Given the description of an element on the screen output the (x, y) to click on. 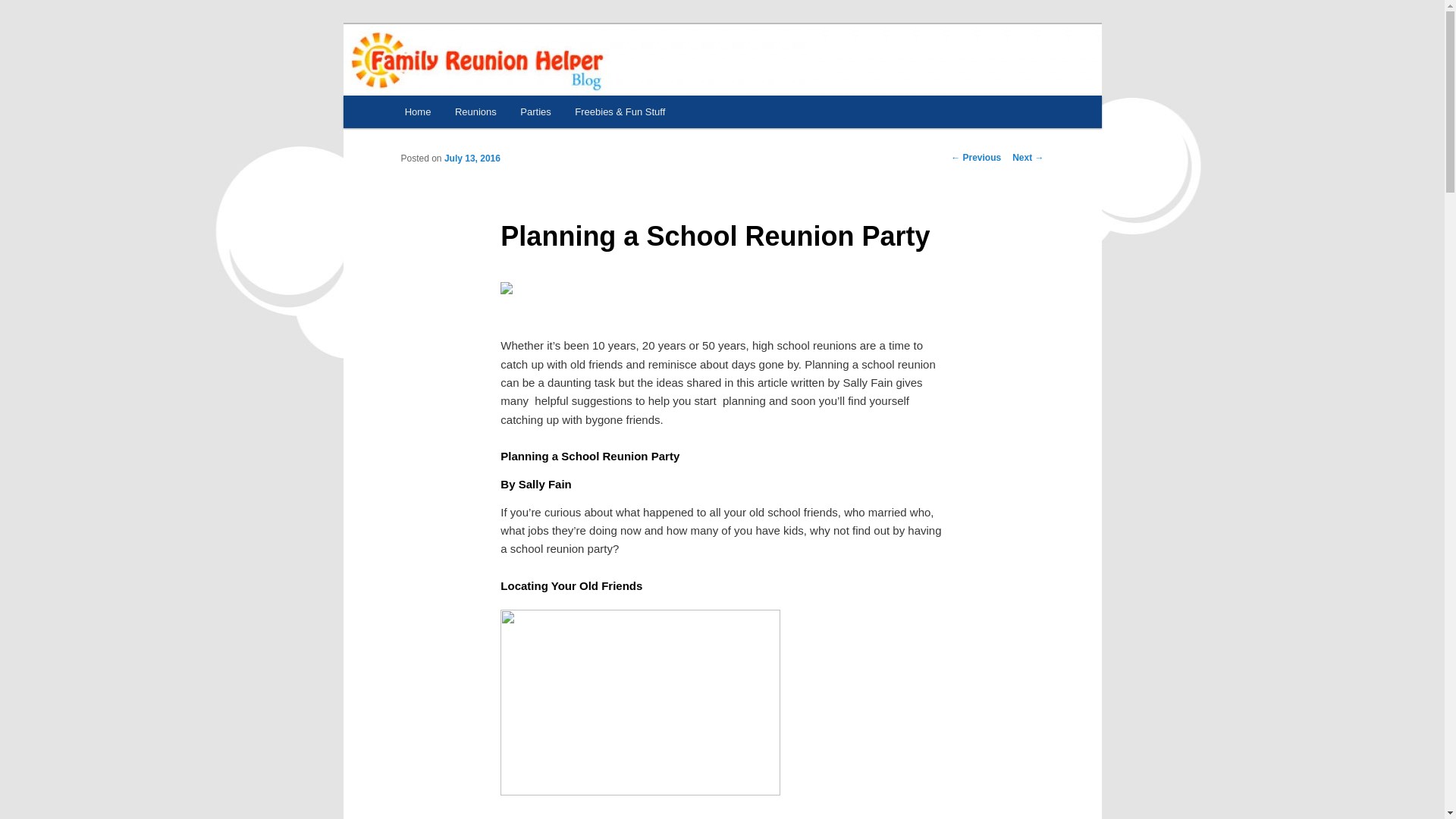
Family Reunion Helper (523, 78)
July 13, 2016 (472, 158)
Parties (535, 111)
Reunions (475, 111)
10:48 pm (472, 158)
Home (417, 111)
